Given the description of an element on the screen output the (x, y) to click on. 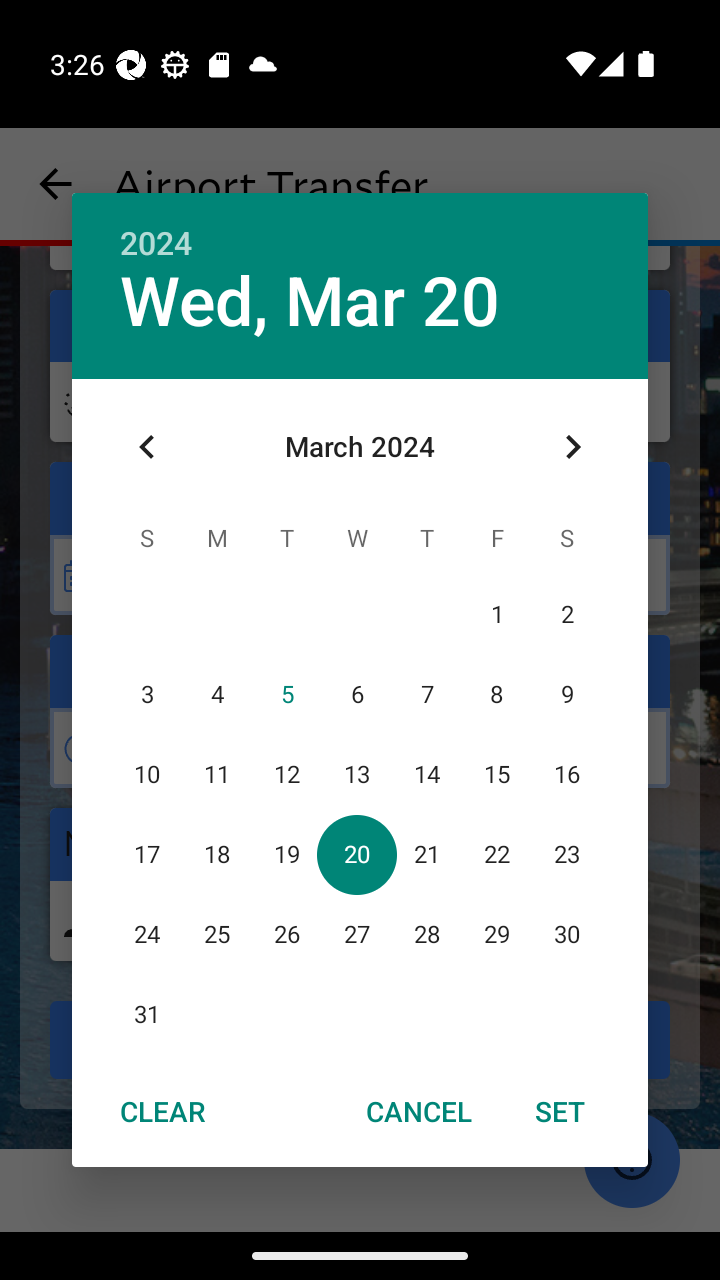
2024 (155, 243)
Wed, Mar 20 (309, 302)
Previous month (147, 447)
Next month (572, 447)
1 01 March 2024 (497, 614)
2 02 March 2024 (566, 614)
3 03 March 2024 (147, 694)
4 04 March 2024 (216, 694)
5 05 March 2024 (286, 694)
6 06 March 2024 (356, 694)
7 07 March 2024 (426, 694)
8 08 March 2024 (497, 694)
9 09 March 2024 (566, 694)
10 10 March 2024 (147, 774)
11 11 March 2024 (216, 774)
12 12 March 2024 (286, 774)
13 13 March 2024 (356, 774)
14 14 March 2024 (426, 774)
15 15 March 2024 (497, 774)
16 16 March 2024 (566, 774)
17 17 March 2024 (147, 854)
18 18 March 2024 (216, 854)
19 19 March 2024 (286, 854)
20 20 March 2024 (356, 854)
21 21 March 2024 (426, 854)
22 22 March 2024 (497, 854)
23 23 March 2024 (566, 854)
24 24 March 2024 (147, 934)
25 25 March 2024 (216, 934)
26 26 March 2024 (286, 934)
27 27 March 2024 (356, 934)
28 28 March 2024 (426, 934)
29 29 March 2024 (497, 934)
30 30 March 2024 (566, 934)
31 31 March 2024 (147, 1014)
CLEAR (162, 1110)
CANCEL (419, 1110)
SET (560, 1110)
